Given the description of an element on the screen output the (x, y) to click on. 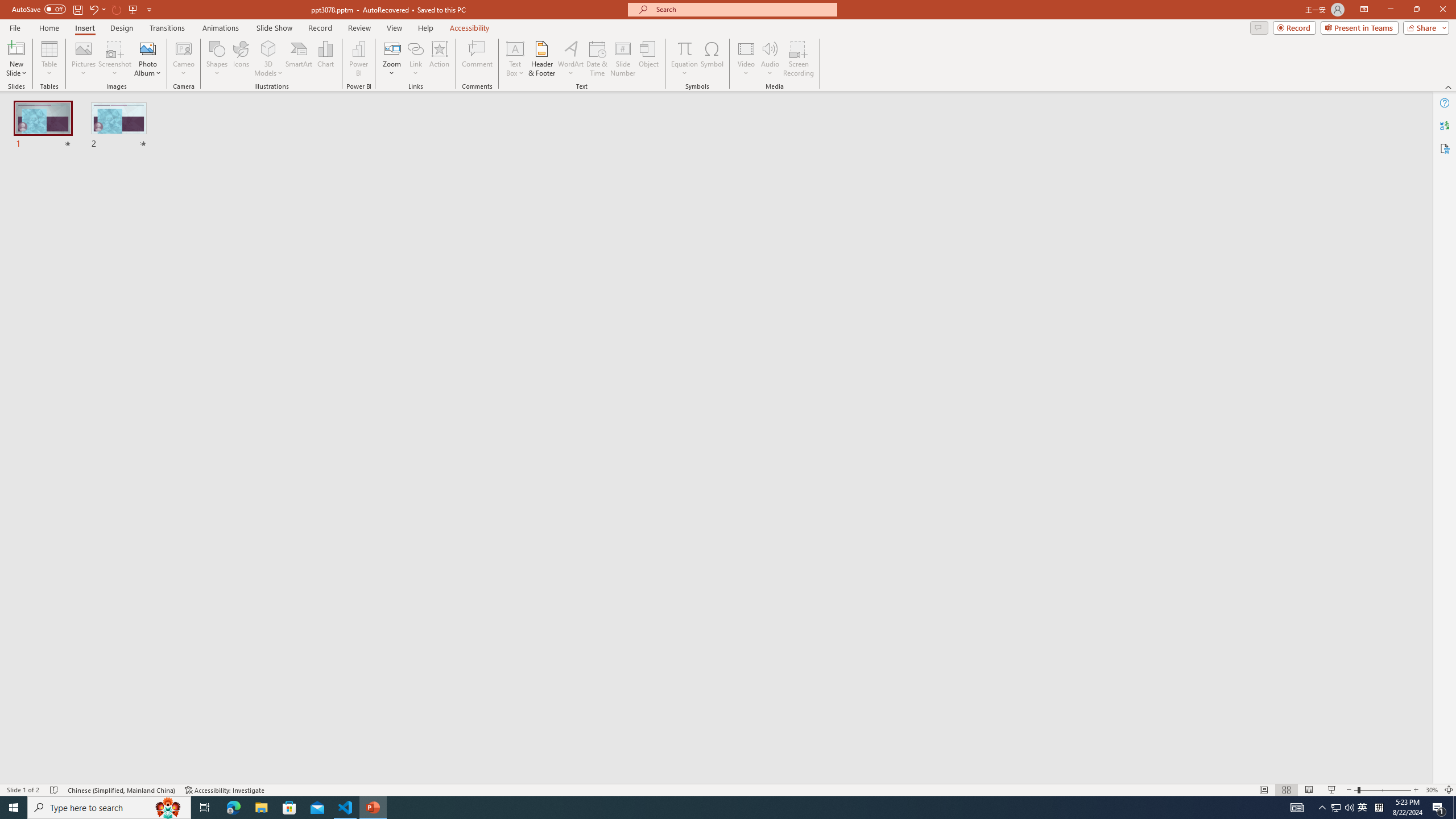
Power BI (358, 58)
WordArt (570, 58)
Symbol... (711, 58)
Slide Number (622, 58)
